Given the description of an element on the screen output the (x, y) to click on. 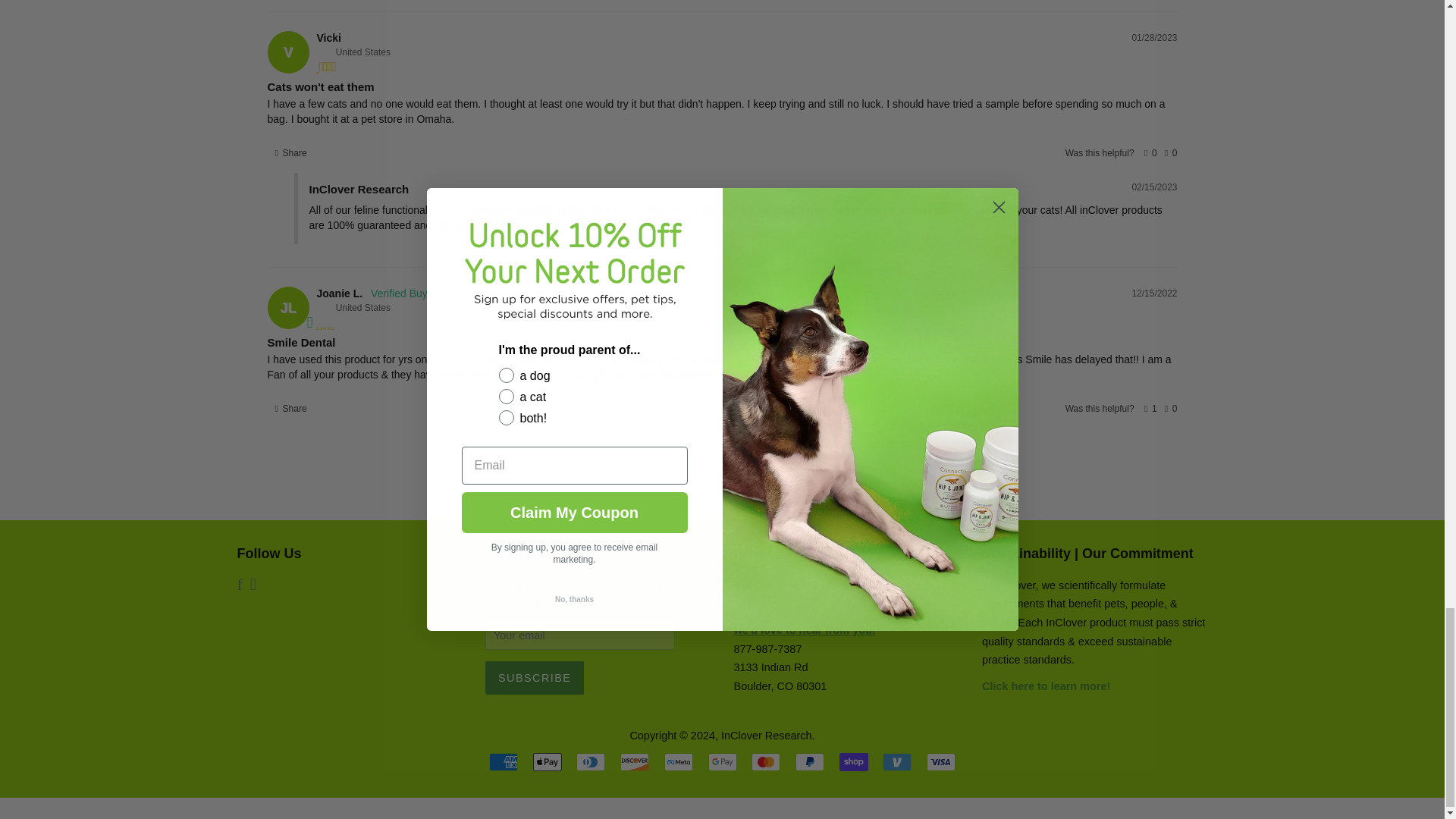
Shop Pay (853, 761)
Subscribe (533, 677)
PayPal (809, 761)
Venmo (896, 761)
Visa (940, 761)
Google Pay (721, 761)
Diners Club (590, 761)
Mastercard (765, 761)
American Express (503, 761)
Apple Pay (547, 761)
Discover (634, 761)
Meta Pay (678, 761)
